Given the description of an element on the screen output the (x, y) to click on. 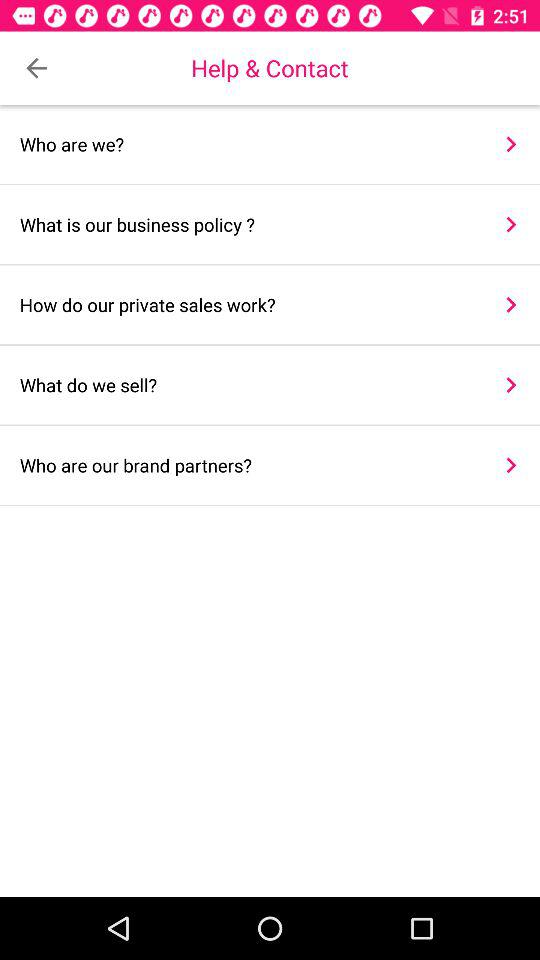
select icon next to help & contact item (36, 68)
